Given the description of an element on the screen output the (x, y) to click on. 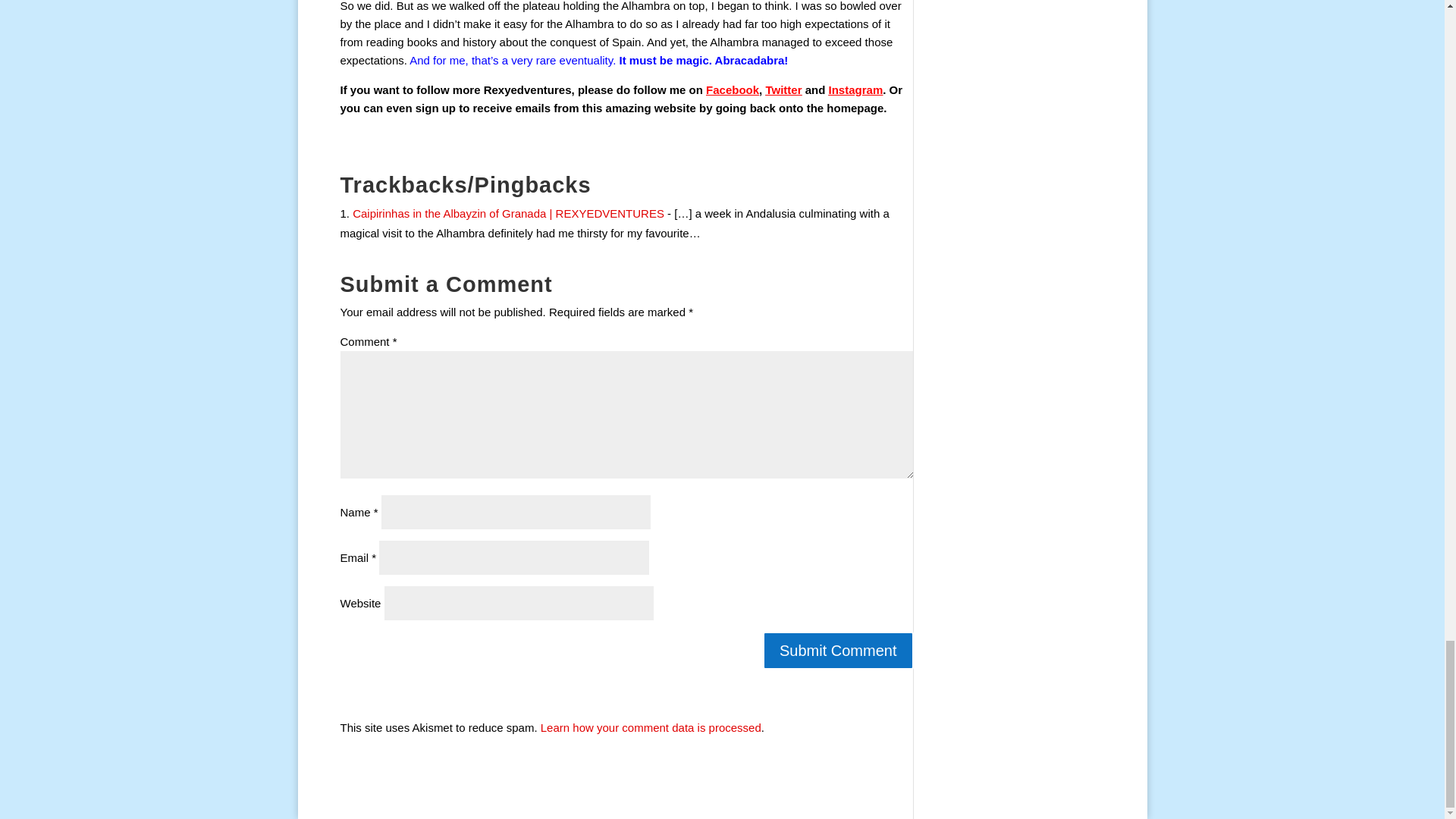
Submit Comment (838, 650)
